Given the description of an element on the screen output the (x, y) to click on. 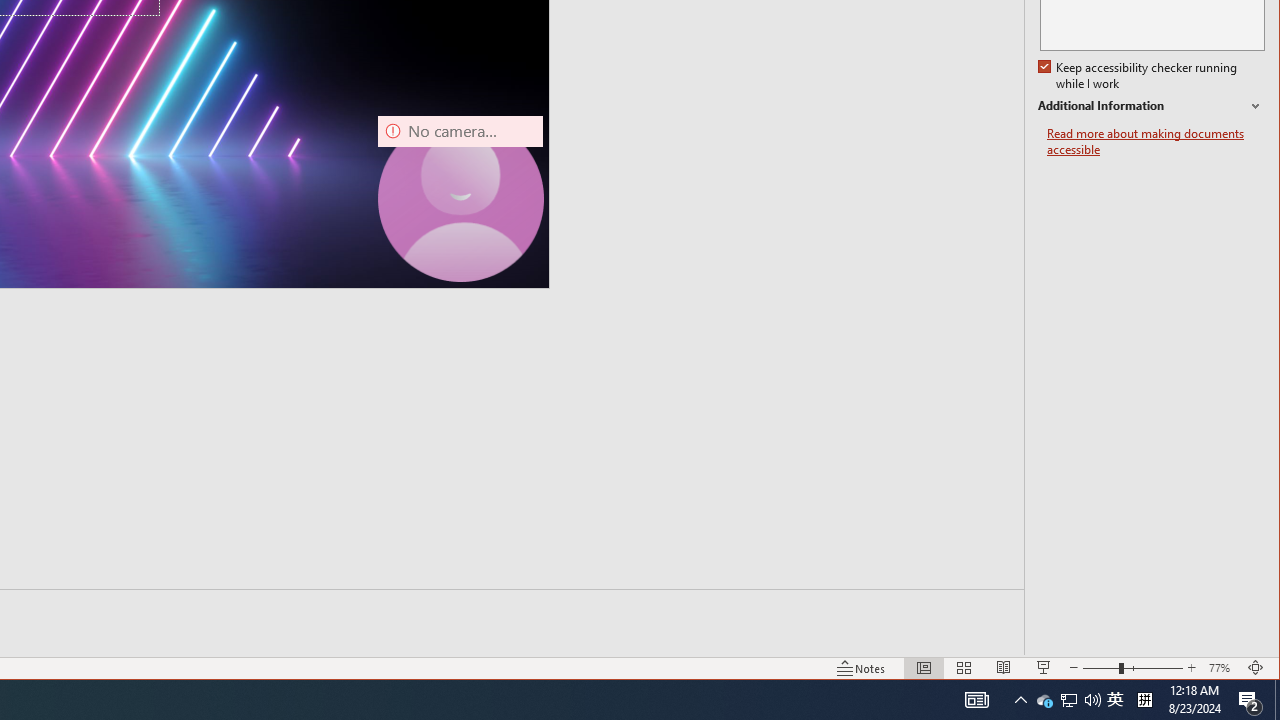
Camera 7, No camera detected. (460, 197)
